Given the description of an element on the screen output the (x, y) to click on. 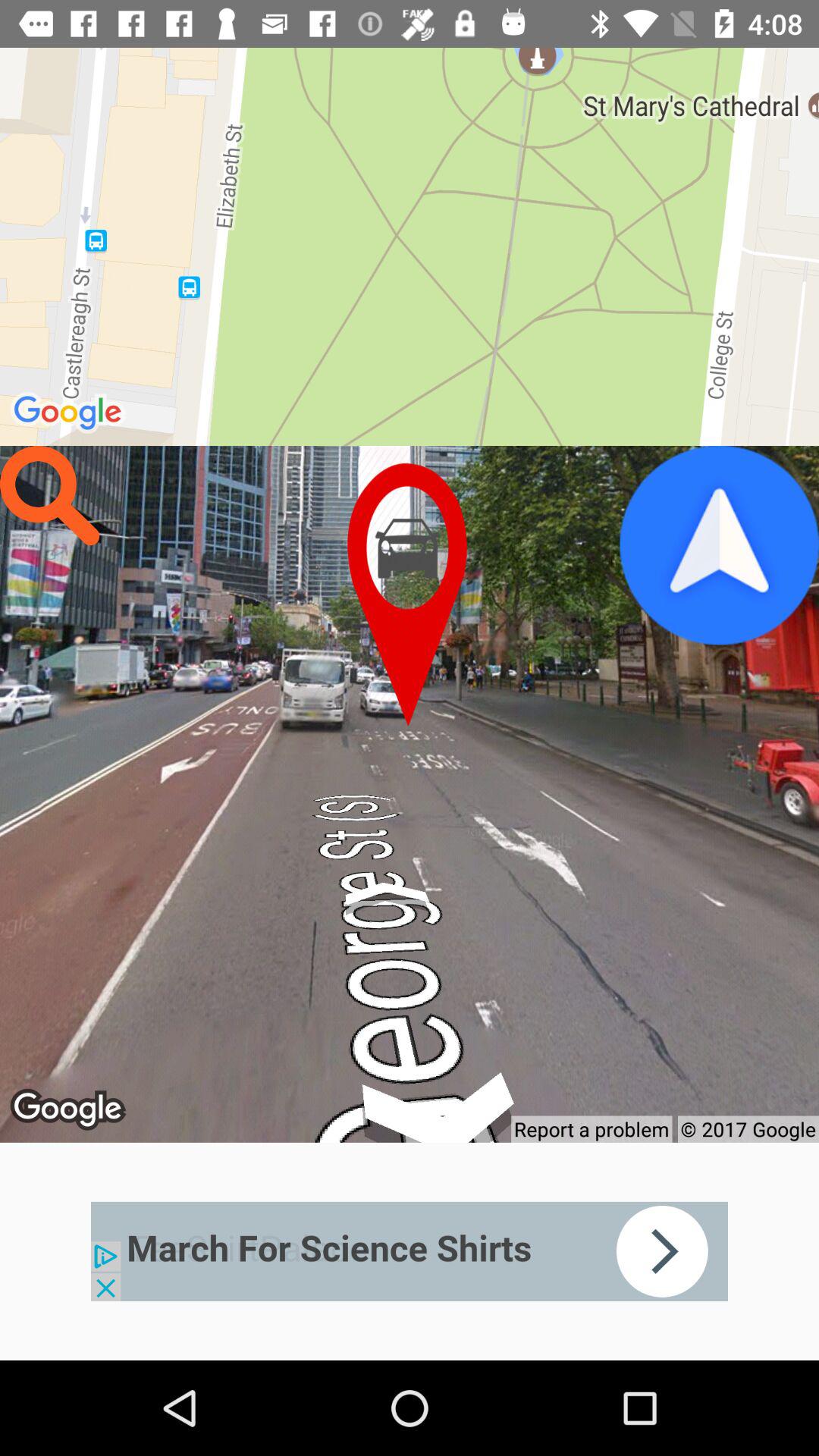
map page (409, 594)
